Given the description of an element on the screen output the (x, y) to click on. 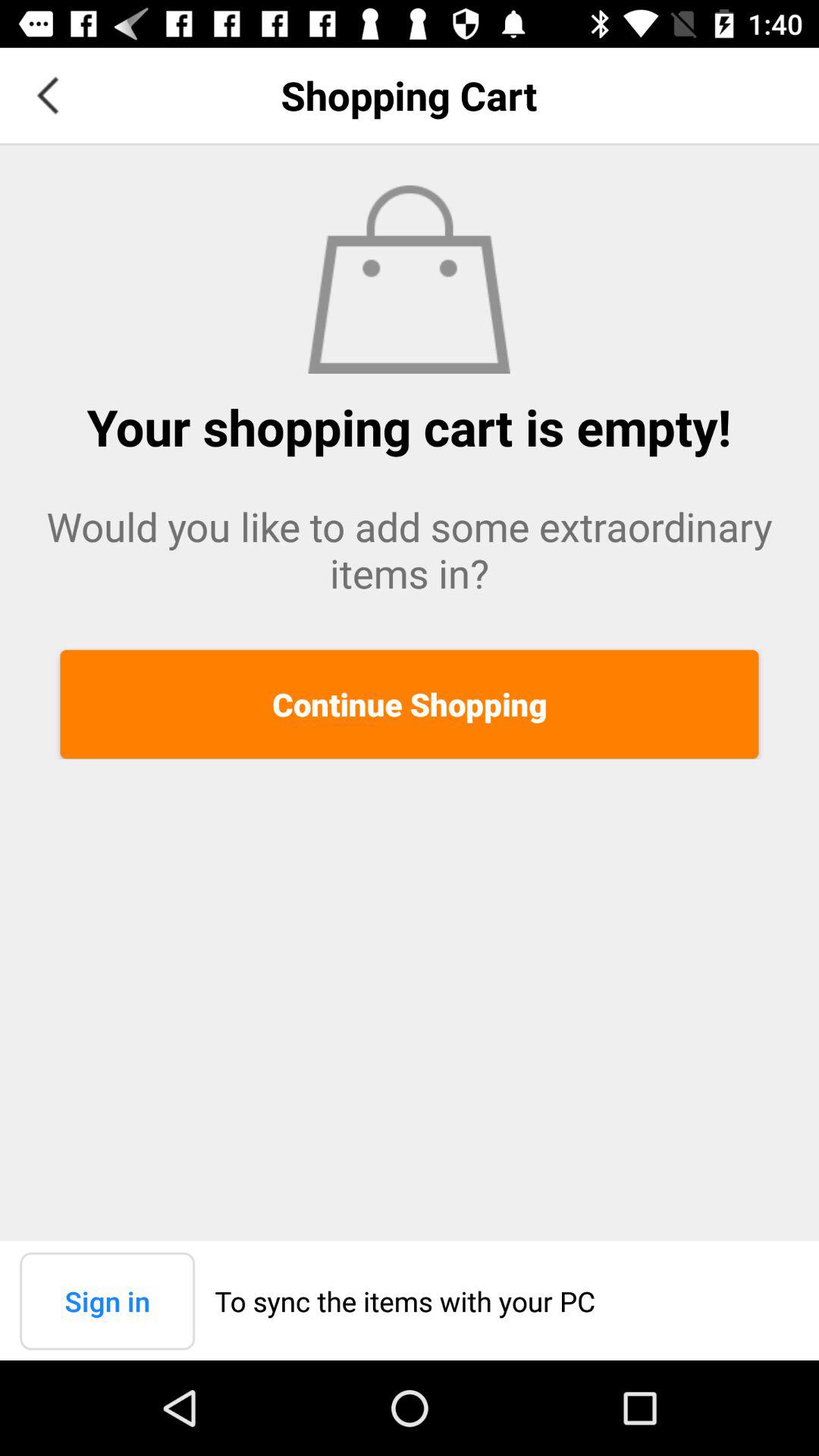
tap the item to the left of the to sync the (107, 1301)
